Given the description of an element on the screen output the (x, y) to click on. 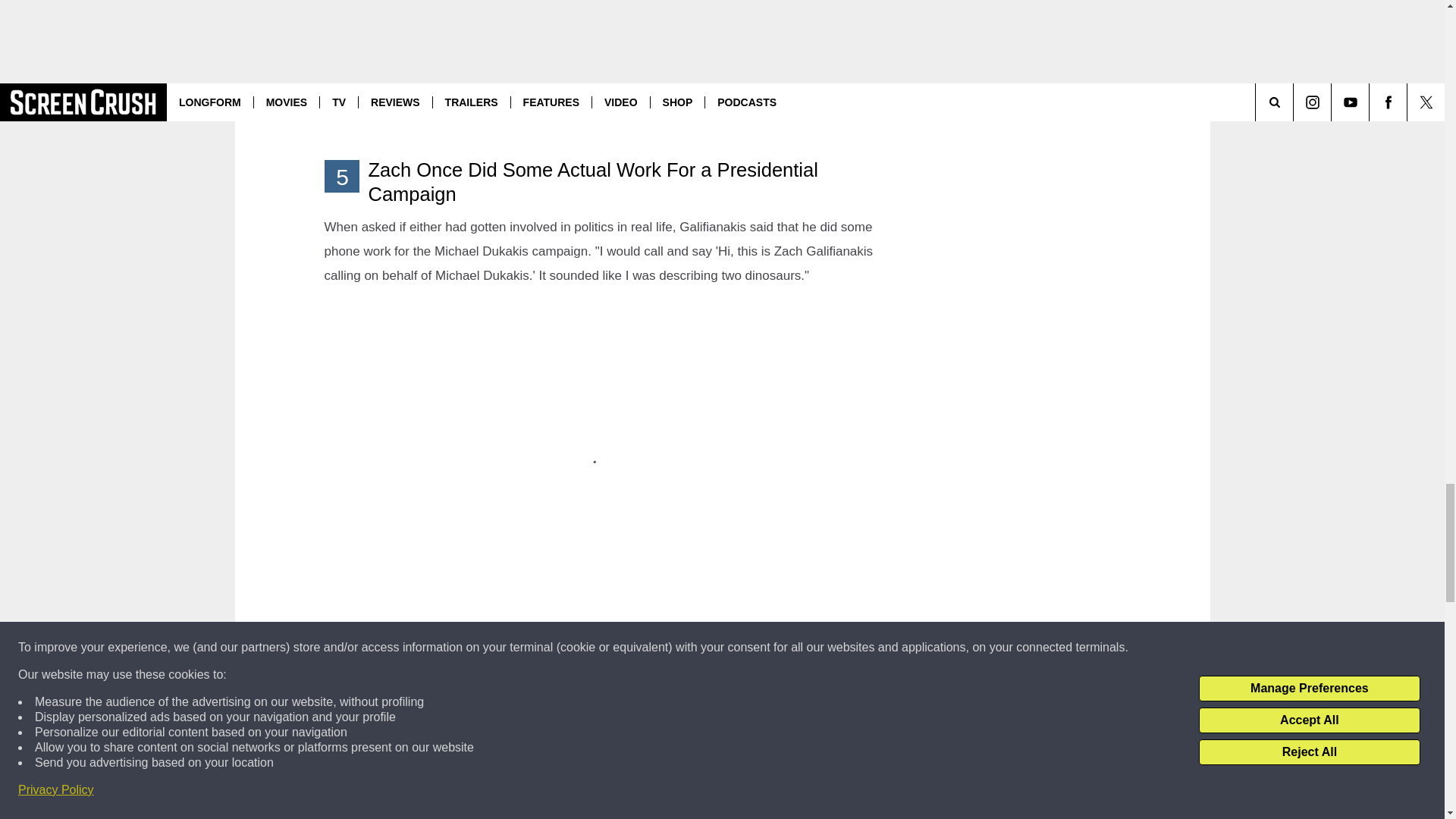
Celebrity News (421, 739)
Zach Galifianakis (561, 714)
The Campaign (423, 714)
Movie News (544, 739)
Will Ferrell (489, 714)
ScreenCrush (610, 739)
Interviews (487, 739)
